Given the description of an element on the screen output the (x, y) to click on. 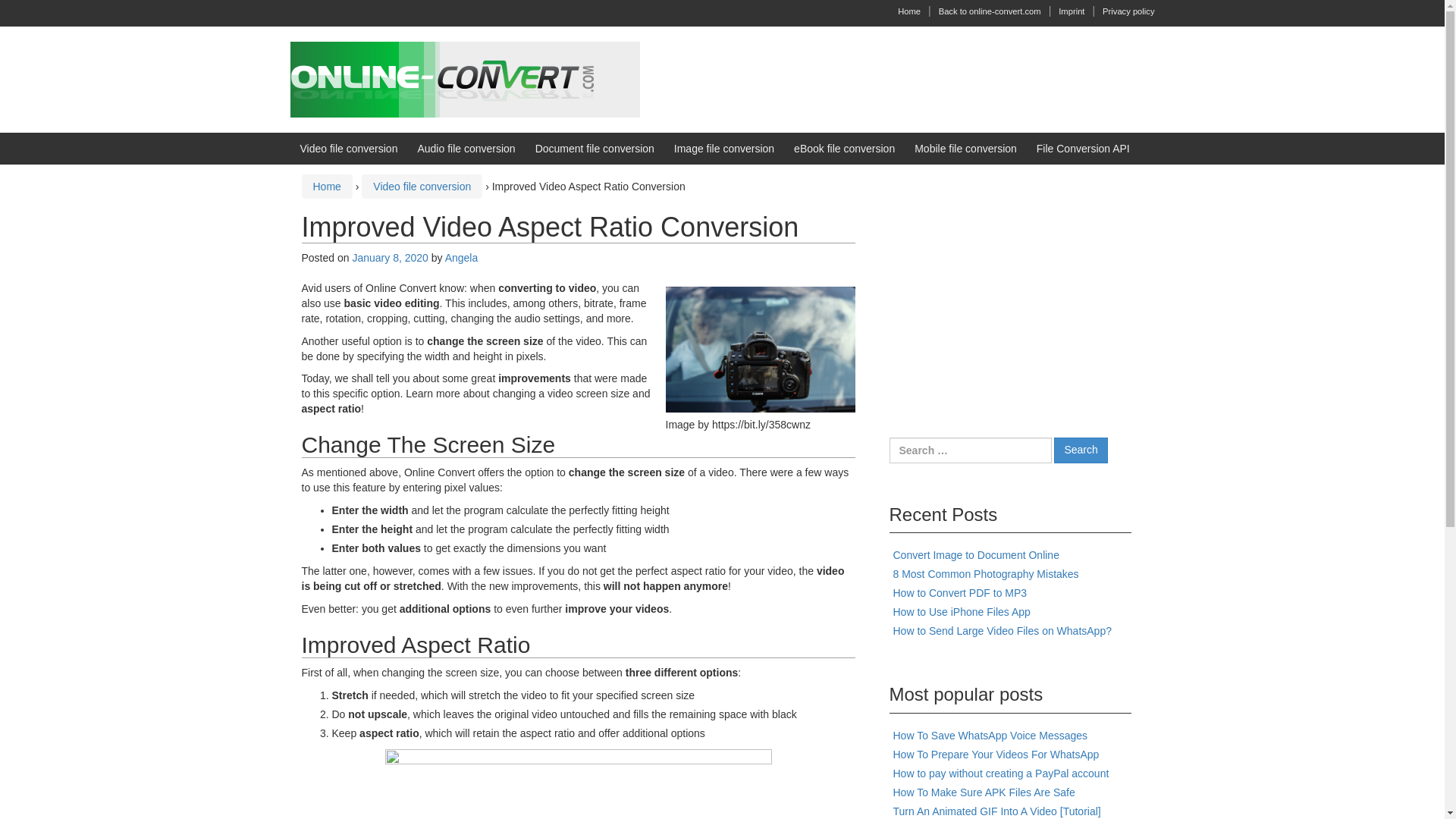
Angela (462, 257)
How To Prepare Your Videos For WhatsApp (996, 754)
Audio file conversion (465, 148)
Search (1080, 450)
How To Save WhatsApp Voice Messages (990, 735)
How To Make Sure APK Files Are Safe (984, 792)
Online file conversion blog (464, 78)
How to pay without creating a PayPal account (1001, 773)
January 8, 2020 (390, 257)
Imprint (1071, 10)
